Given the description of an element on the screen output the (x, y) to click on. 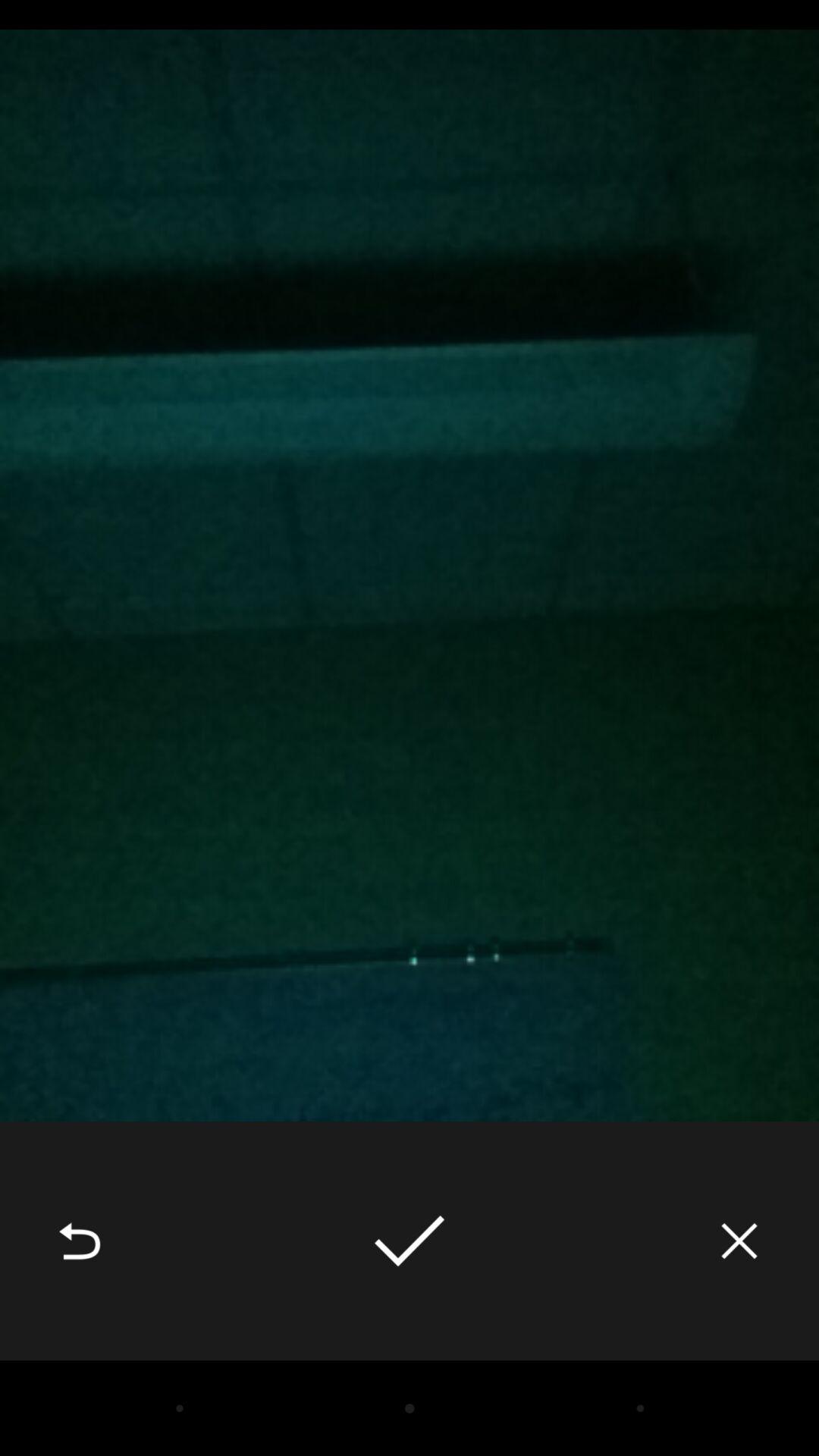
select icon at the bottom right corner (739, 1240)
